Given the description of an element on the screen output the (x, y) to click on. 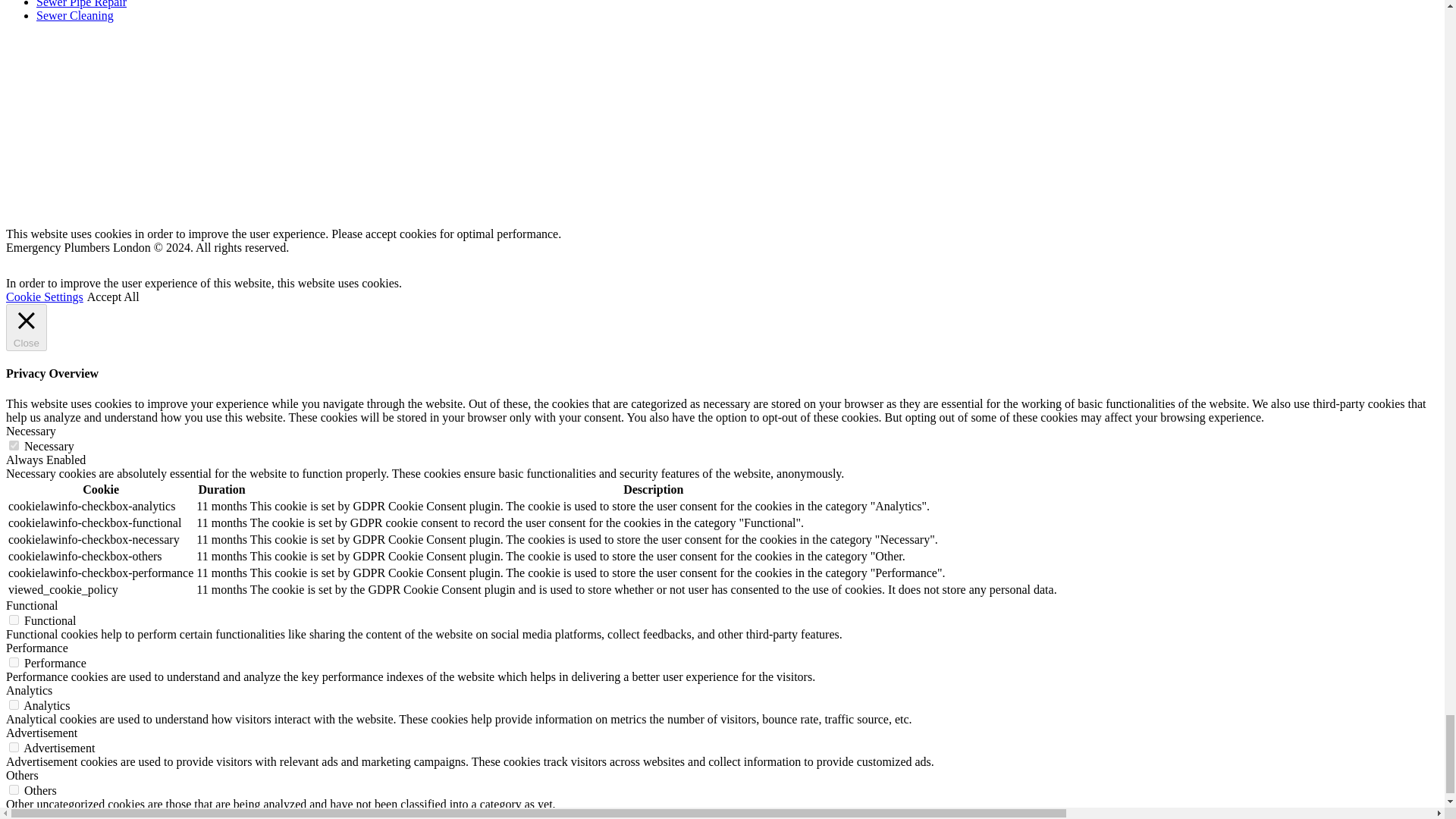
on (13, 662)
on (13, 445)
on (13, 619)
on (13, 747)
on (13, 789)
on (13, 705)
